Given the description of an element on the screen output the (x, y) to click on. 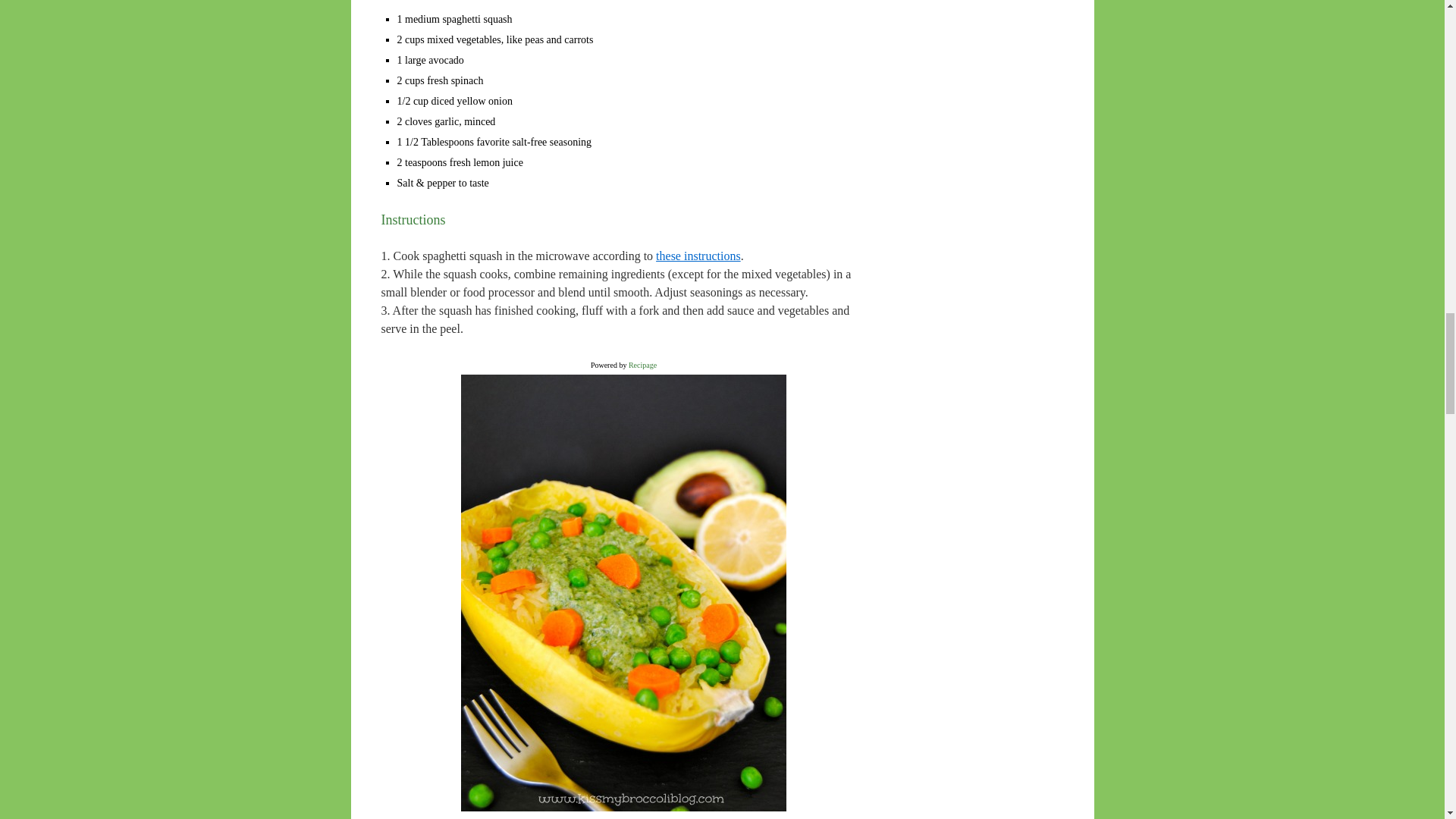
Recipage (642, 365)
these instructions (698, 255)
Ah, Cook It (698, 255)
